Given the description of an element on the screen output the (x, y) to click on. 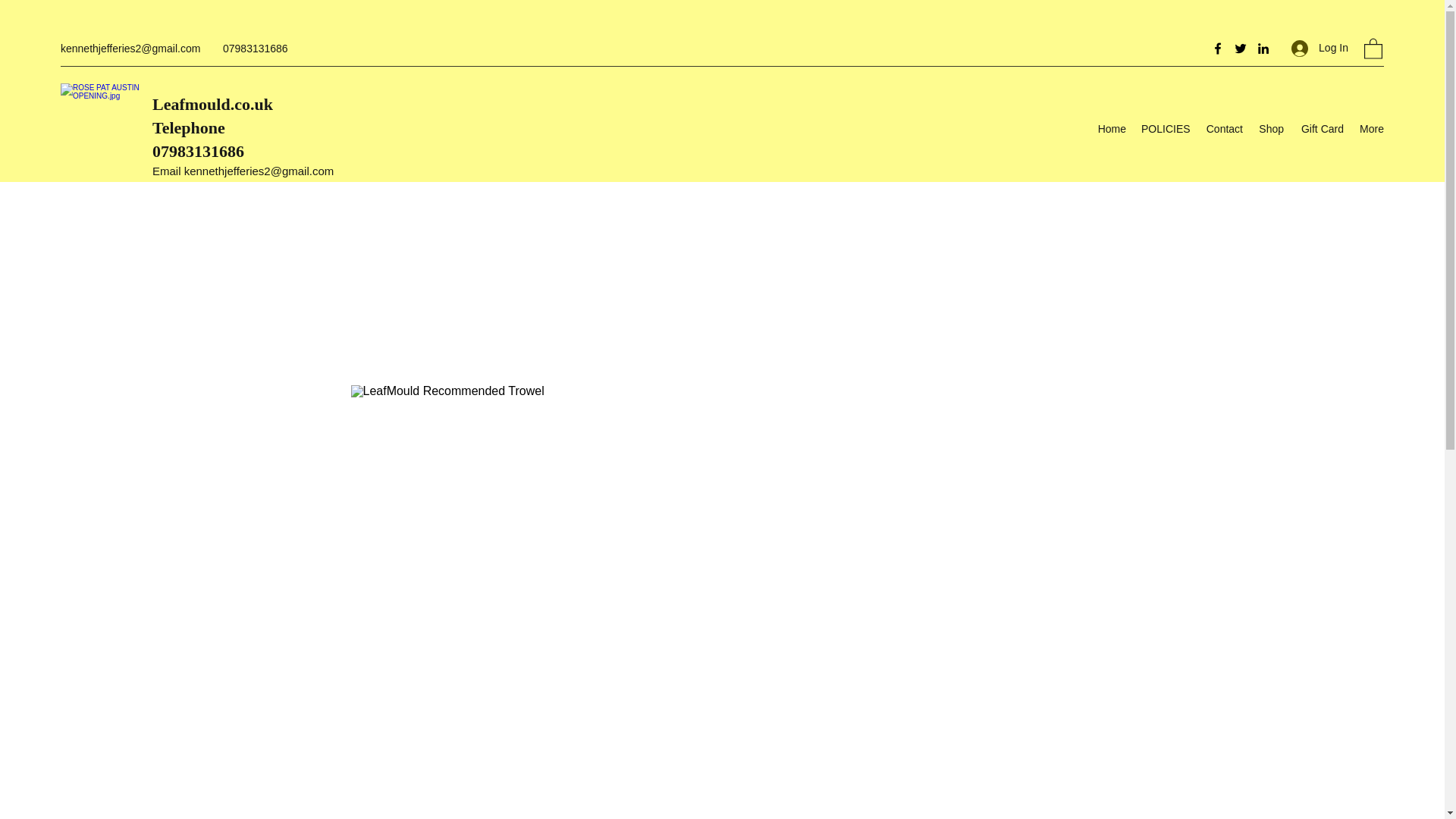
Home (1111, 128)
POLICIES (1164, 128)
Gift Card (1321, 128)
Contact (1222, 128)
Shop (1270, 128)
Log In (1319, 48)
